Given the description of an element on the screen output the (x, y) to click on. 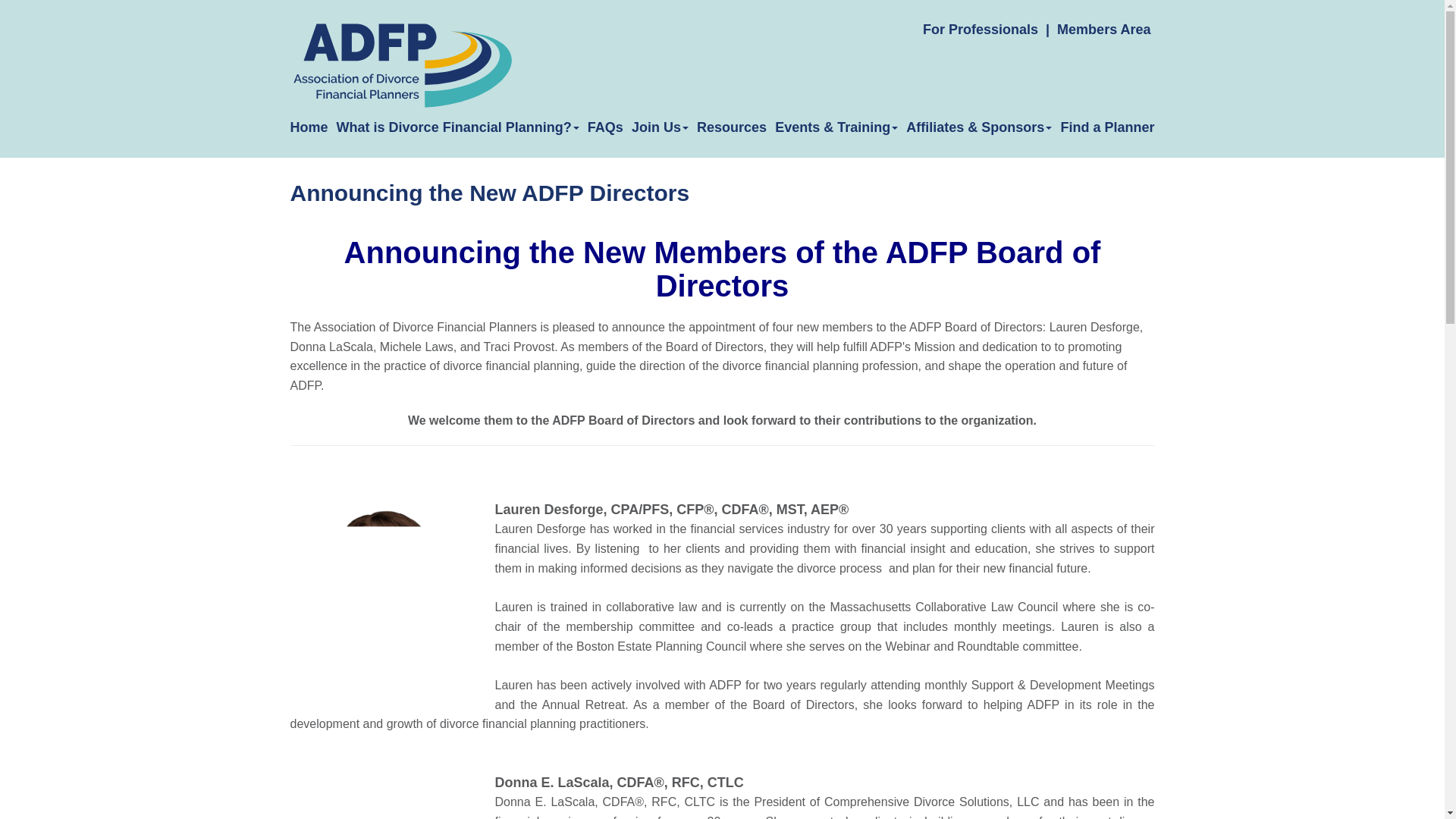
Find a Planner (1106, 127)
Members Area (1103, 29)
Join Us (659, 127)
What is Divorce Financial Planning? (457, 127)
FAQs (605, 127)
Resources (732, 127)
Home (308, 127)
For Professionals (980, 29)
